Given the description of an element on the screen output the (x, y) to click on. 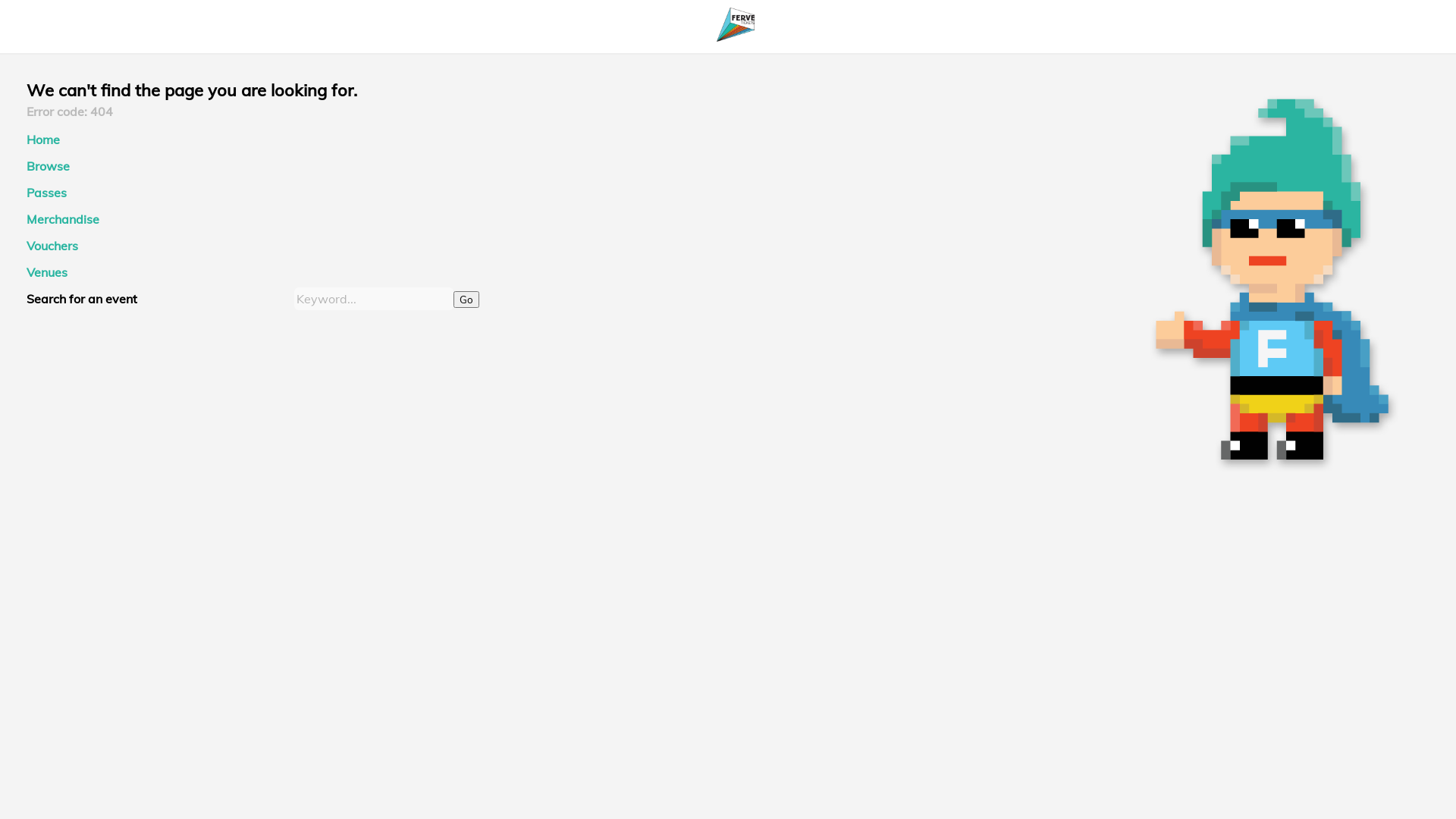
Home Element type: text (42, 139)
Passes Element type: text (46, 192)
Go Element type: text (466, 299)
Vouchers Element type: text (52, 245)
Venues Element type: text (46, 271)
Merchandise Element type: text (62, 218)
Browse Element type: text (47, 165)
